Given the description of an element on the screen output the (x, y) to click on. 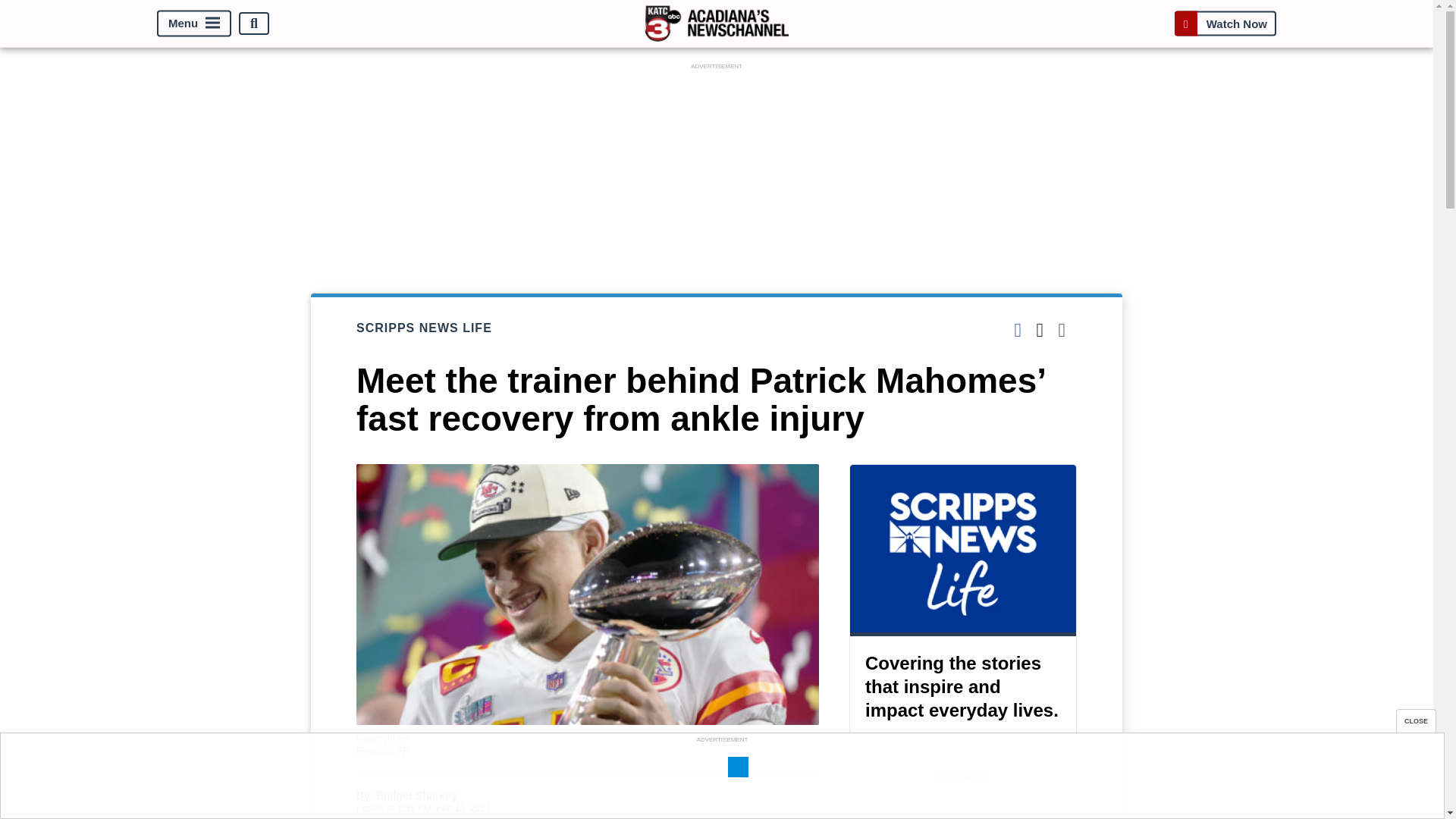
3rd party ad content (962, 801)
Menu (194, 23)
Watch Now (1224, 23)
3rd party ad content (721, 780)
